Given the description of an element on the screen output the (x, y) to click on. 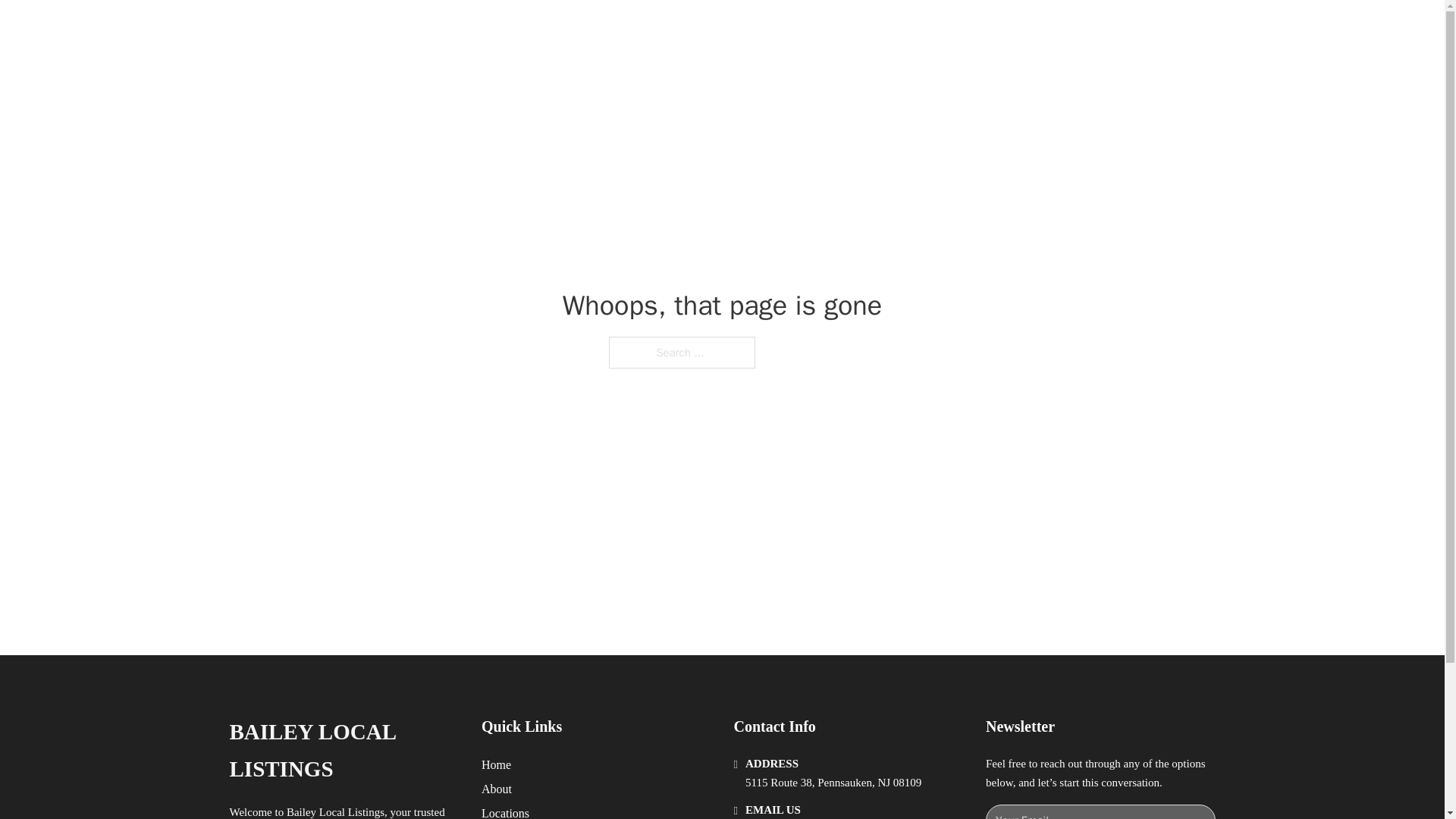
HOME (919, 29)
Locations (505, 811)
LOCATIONS (990, 29)
BAILEY LOCAL LISTINGS (427, 28)
About (496, 788)
Home (496, 764)
BAILEY LOCAL LISTINGS (343, 750)
